Given the description of an element on the screen output the (x, y) to click on. 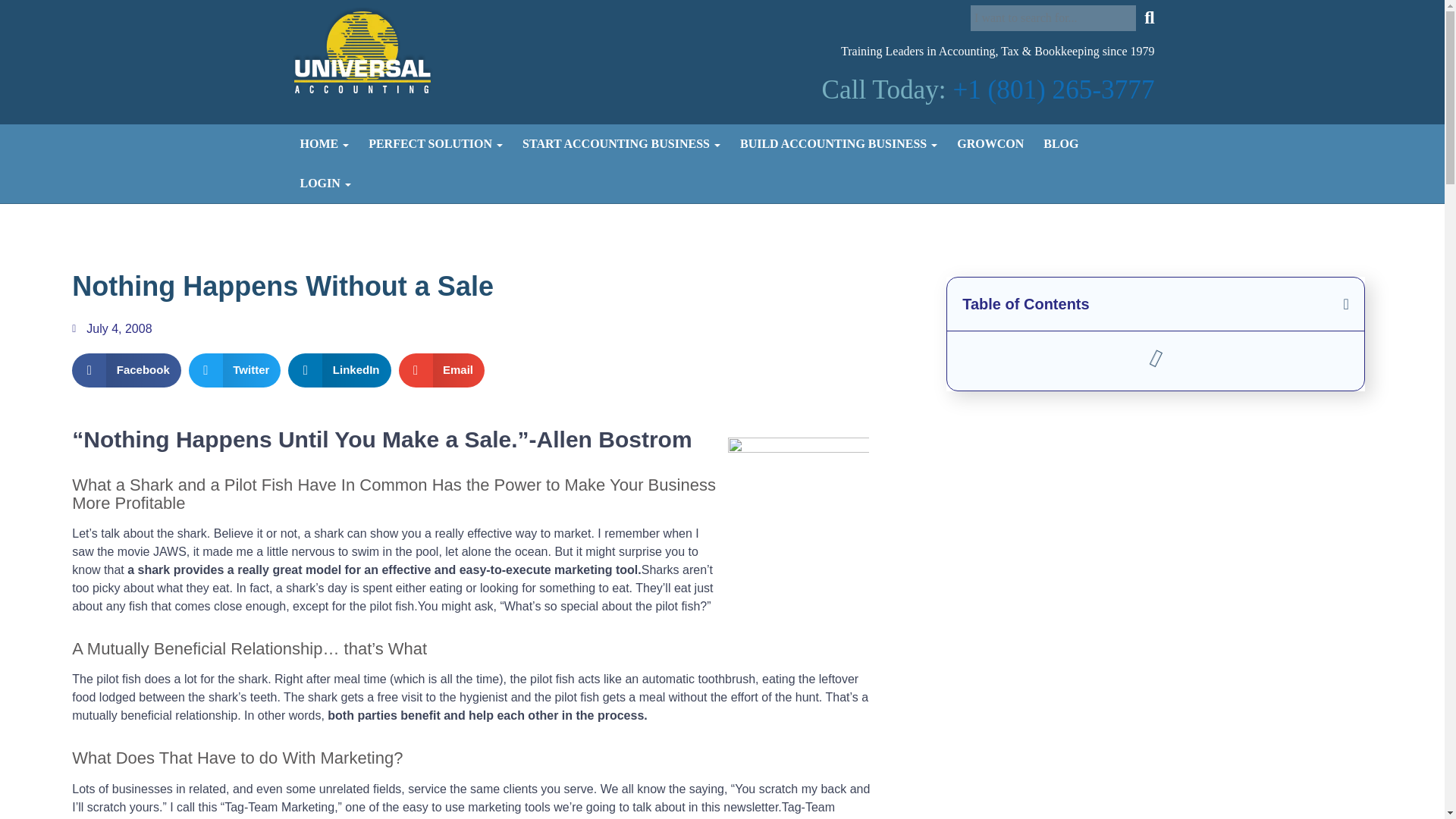
GROWCON (990, 143)
Home (323, 143)
Start Accounting Business (621, 143)
July 4, 2008 (111, 329)
Build Accounting Business (838, 143)
HOME (323, 143)
LOGIN (324, 183)
Perfect Solution (435, 143)
START ACCOUNTING BUSINESS (621, 143)
BUILD ACCOUNTING BUSINESS (838, 143)
PERFECT SOLUTION (435, 143)
BLOG (1060, 143)
